Given the description of an element on the screen output the (x, y) to click on. 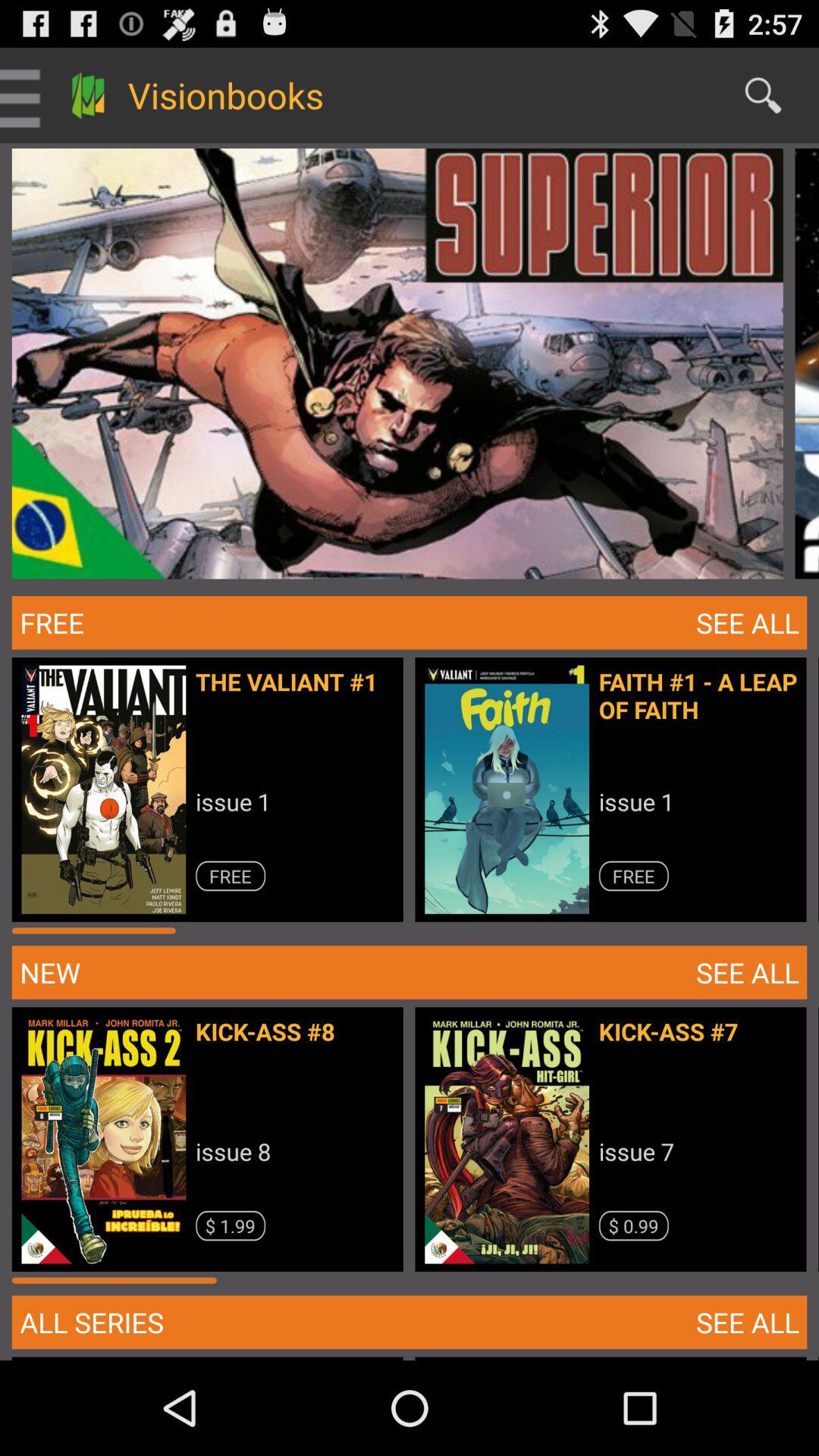
click on the button right to free (747, 622)
select the image above the button all series on the web page (103, 1138)
click on the first box in second row from top (213, 796)
